Given the description of an element on the screen output the (x, y) to click on. 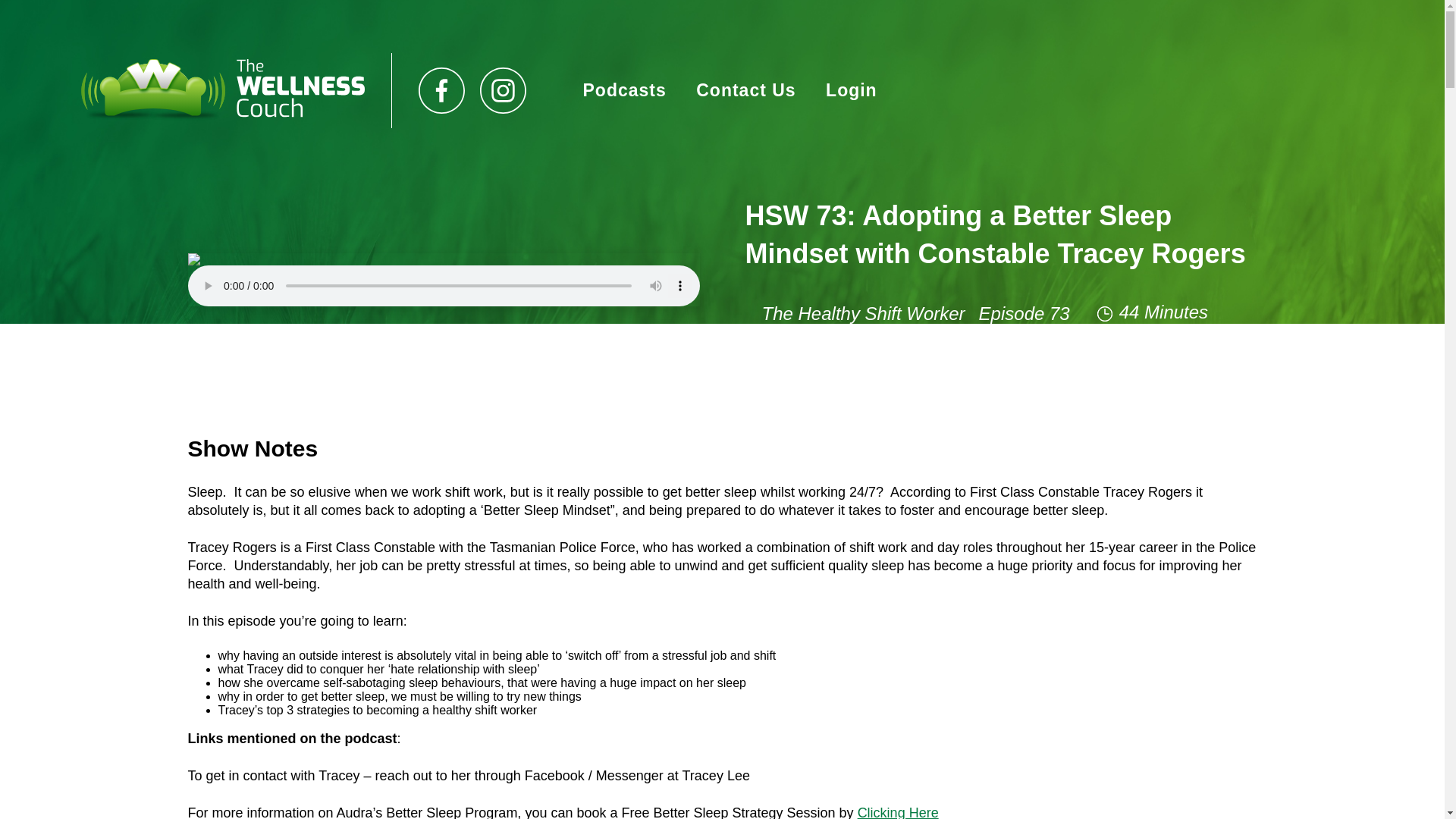
Login (851, 89)
Contact Us (744, 89)
Podcasts (623, 89)
The Healthy Shift Worker (862, 313)
Clicking Here (898, 812)
